Given the description of an element on the screen output the (x, y) to click on. 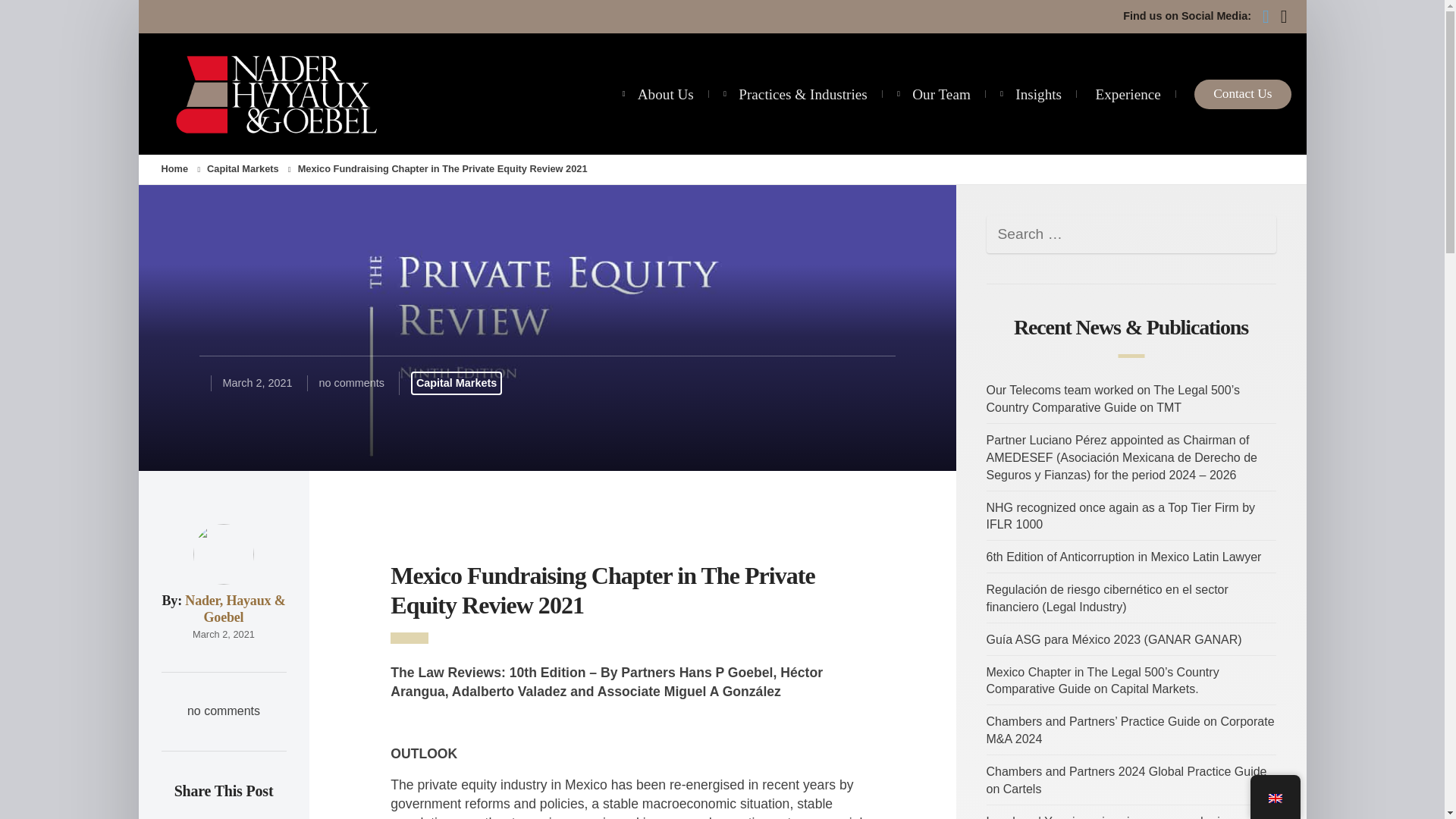
Experience (1128, 94)
Our Team (941, 94)
Insights (1037, 94)
English (1274, 798)
About Us (665, 81)
Search for: (1130, 234)
Contact Us (1241, 93)
View all posts in Capital Markets (242, 169)
